Given the description of an element on the screen output the (x, y) to click on. 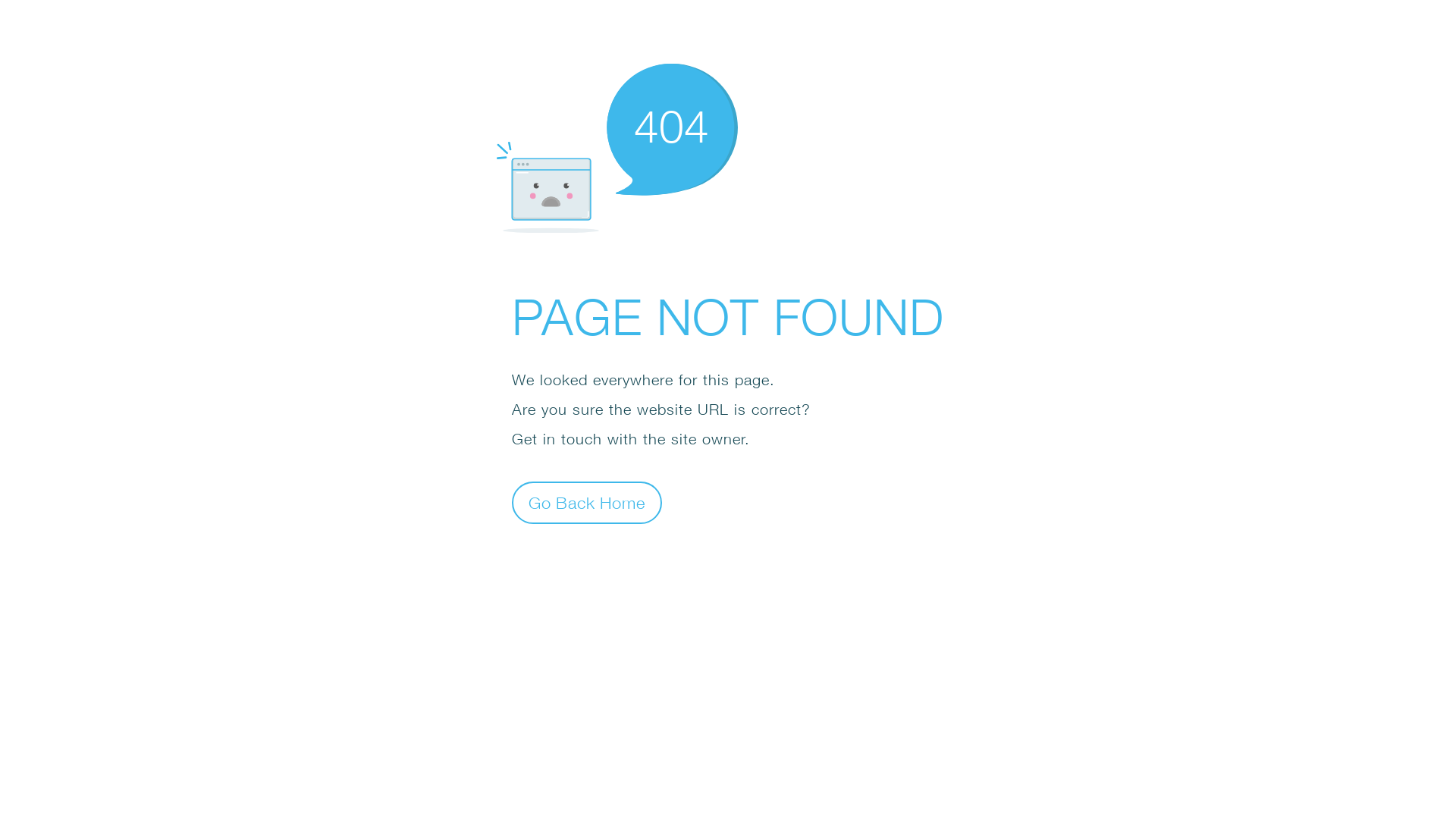
Go Back Home Element type: text (586, 502)
